Given the description of an element on the screen output the (x, y) to click on. 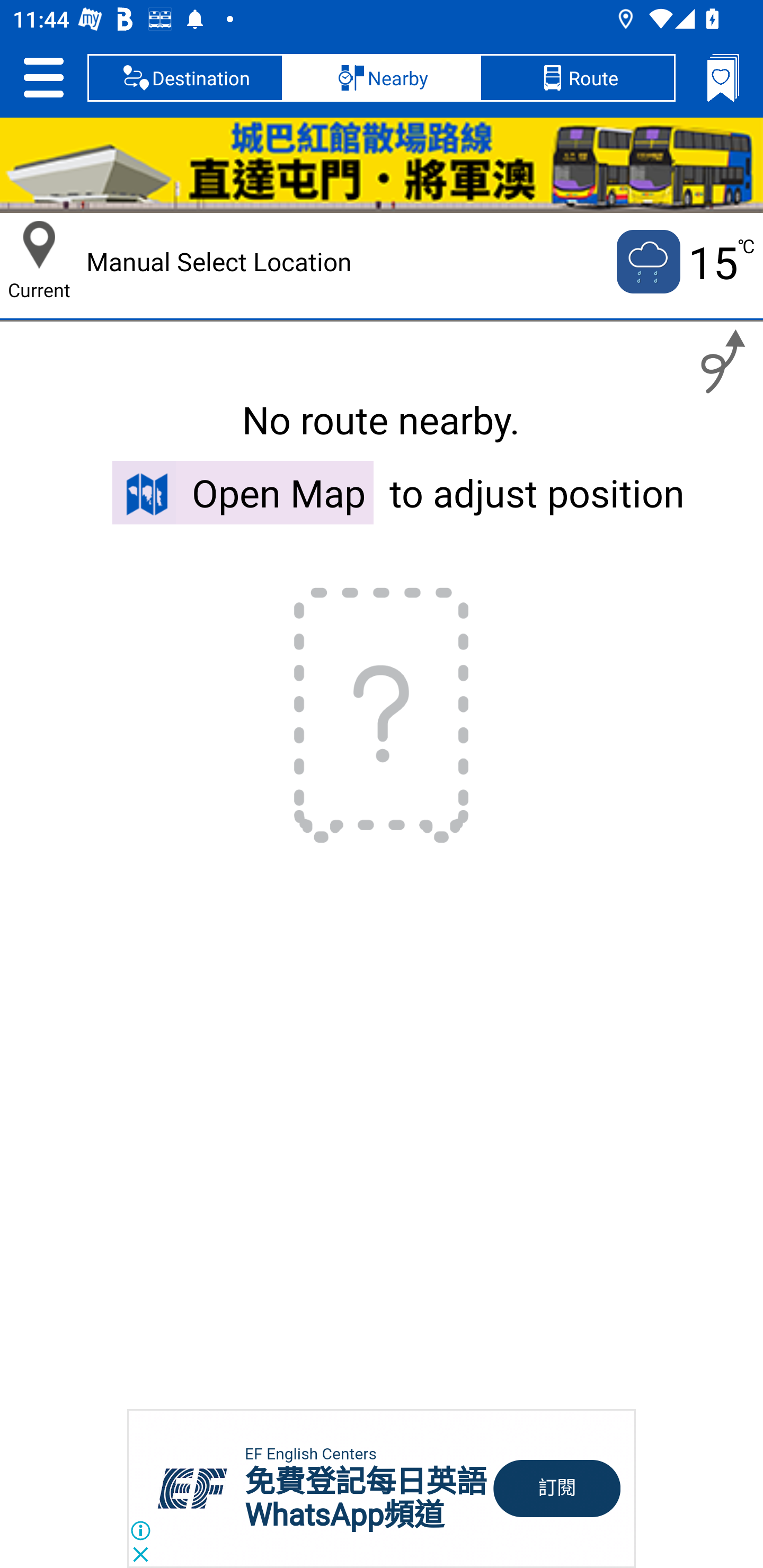
Destination (185, 77)
Nearby, selected (381, 77)
Route (577, 77)
Bookmarks (723, 77)
Setting (43, 77)
HKC (381, 165)
Current Location (38, 244)
Current temputure is  15  no 15 ℃ (684, 261)
Open Map (242, 491)
EF English Centers (310, 1454)
訂閱 (556, 1488)
免費登記每日英語 WhatsApp頻道 免費登記每日英語 WhatsApp頻道 (365, 1497)
